Given the description of an element on the screen output the (x, y) to click on. 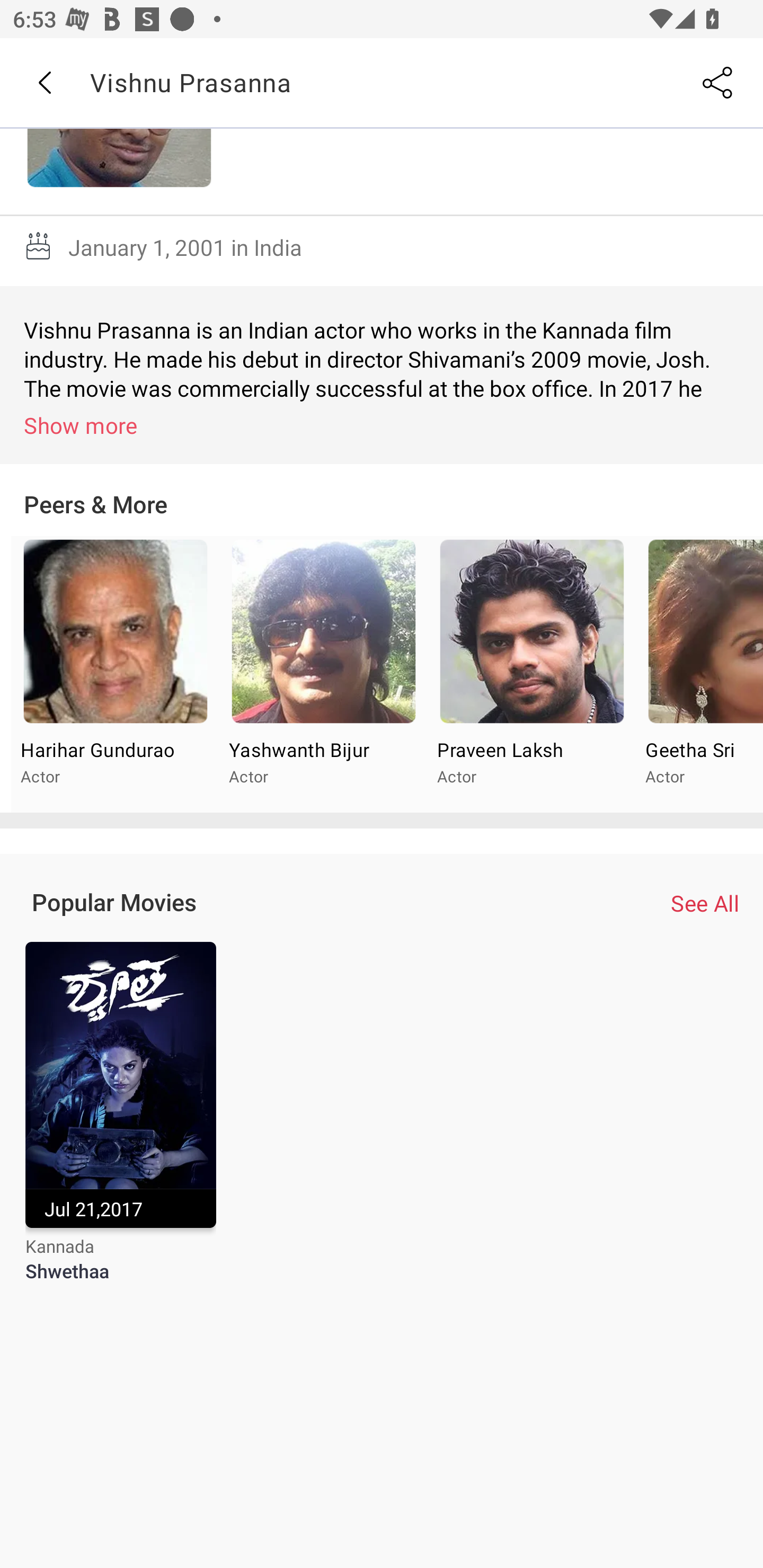
Back (44, 82)
Show more (384, 424)
Harihar Gundurao Dattatreya Actor (115, 674)
Yashwanth Bijur Actor (323, 674)
Praveen Laksh Actor (531, 674)
Geetha Sri Actor (699, 674)
See All (704, 902)
Jul 21,2017 Kannada Shwethaa (120, 1124)
